Given the description of an element on the screen output the (x, y) to click on. 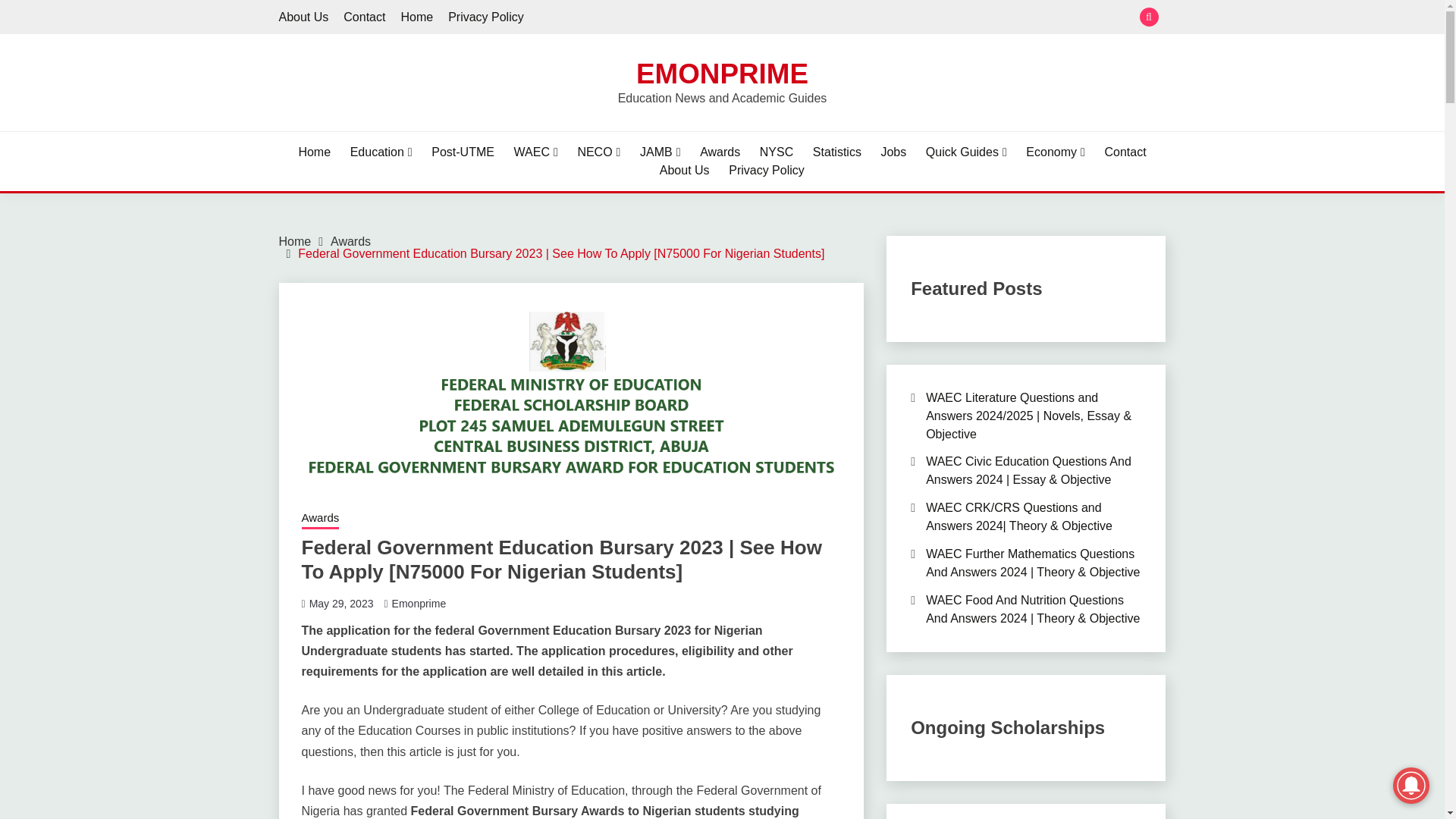
Home (416, 16)
Search (832, 18)
NYSC (776, 152)
Statistics (836, 152)
Jobs (892, 152)
Quick Guides (966, 152)
Post-UTME (462, 152)
Home (314, 152)
JAMB (660, 152)
NECO (598, 152)
EMONPRIME (722, 73)
Education (381, 152)
Awards (719, 152)
WAEC (535, 152)
About Us (304, 16)
